Given the description of an element on the screen output the (x, y) to click on. 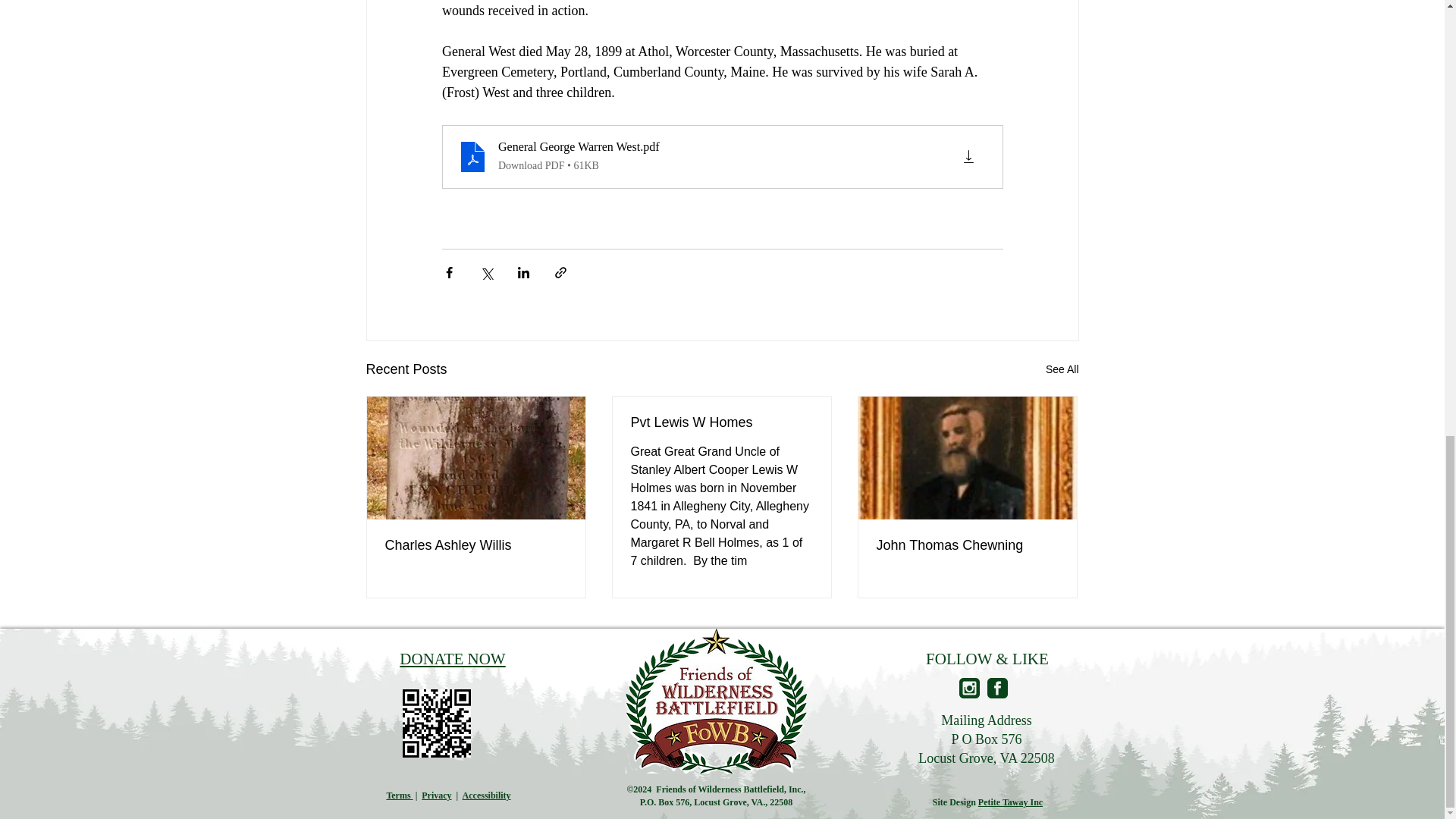
See All (1061, 369)
Privacy (436, 795)
DONATE NOW (451, 659)
John Thomas Chewning (967, 545)
Pvt Lewis W Homes (721, 422)
Accessibility (487, 795)
Terms  (398, 795)
Charles Ashley Willis (476, 545)
